Given the description of an element on the screen output the (x, y) to click on. 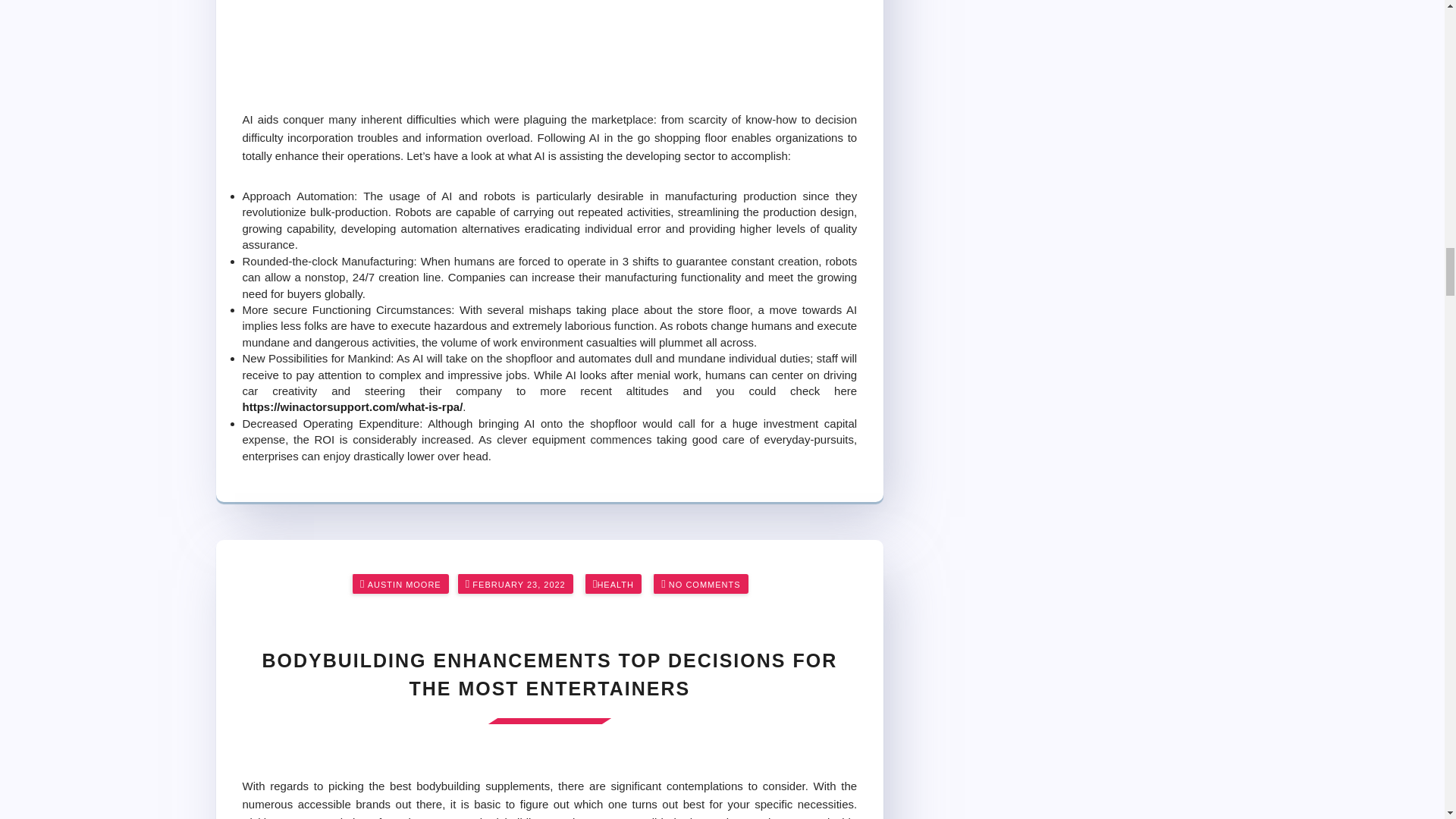
HEALTH (614, 585)
FEBRUARY 23, 2022 (517, 585)
NO COMMENTS (704, 585)
AUSTIN MOORE (404, 585)
